Given the description of an element on the screen output the (x, y) to click on. 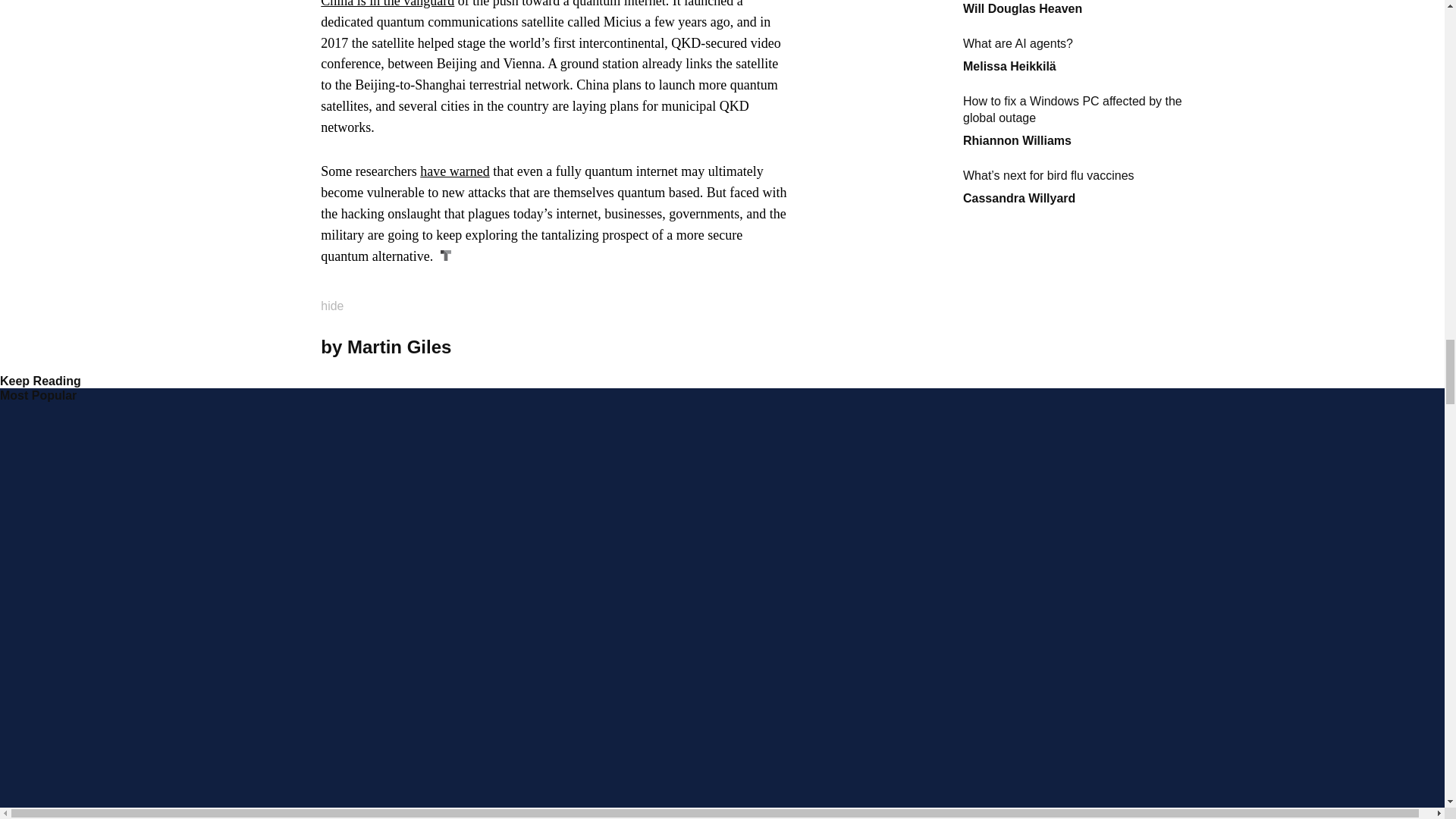
Martin Giles (399, 346)
Share story on facebook (754, 346)
have warned (454, 171)
hide (341, 300)
China is in the vanguard (387, 4)
Share story on twitter (730, 346)
Share story on email (780, 346)
Share story on linkedin (703, 346)
